Given the description of an element on the screen output the (x, y) to click on. 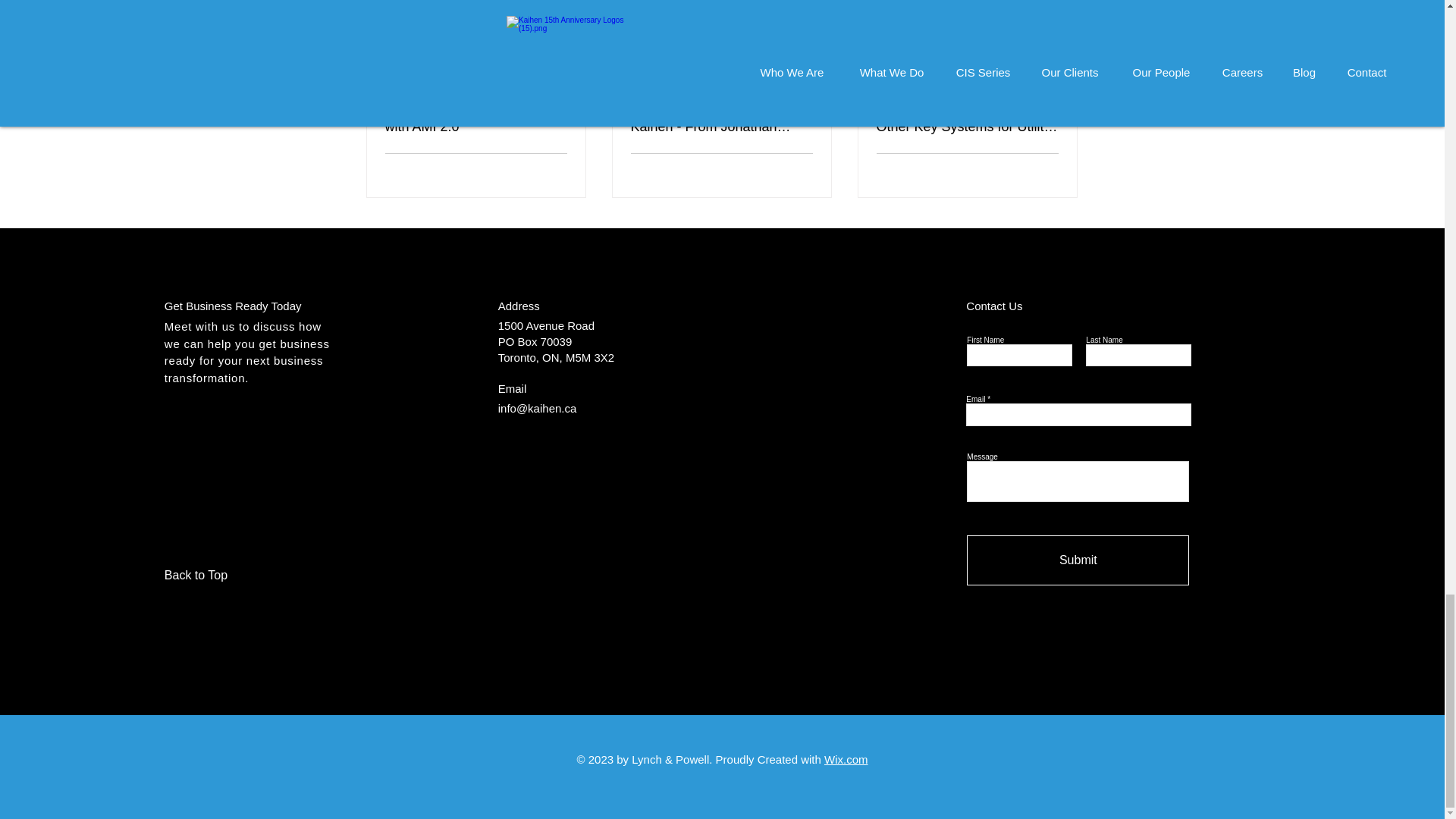
Submit (1077, 560)
Back to Top (218, 575)
Unlocking Utility Efficiency with AMI 2.0 (476, 119)
Wix.com (845, 758)
